Given the description of an element on the screen output the (x, y) to click on. 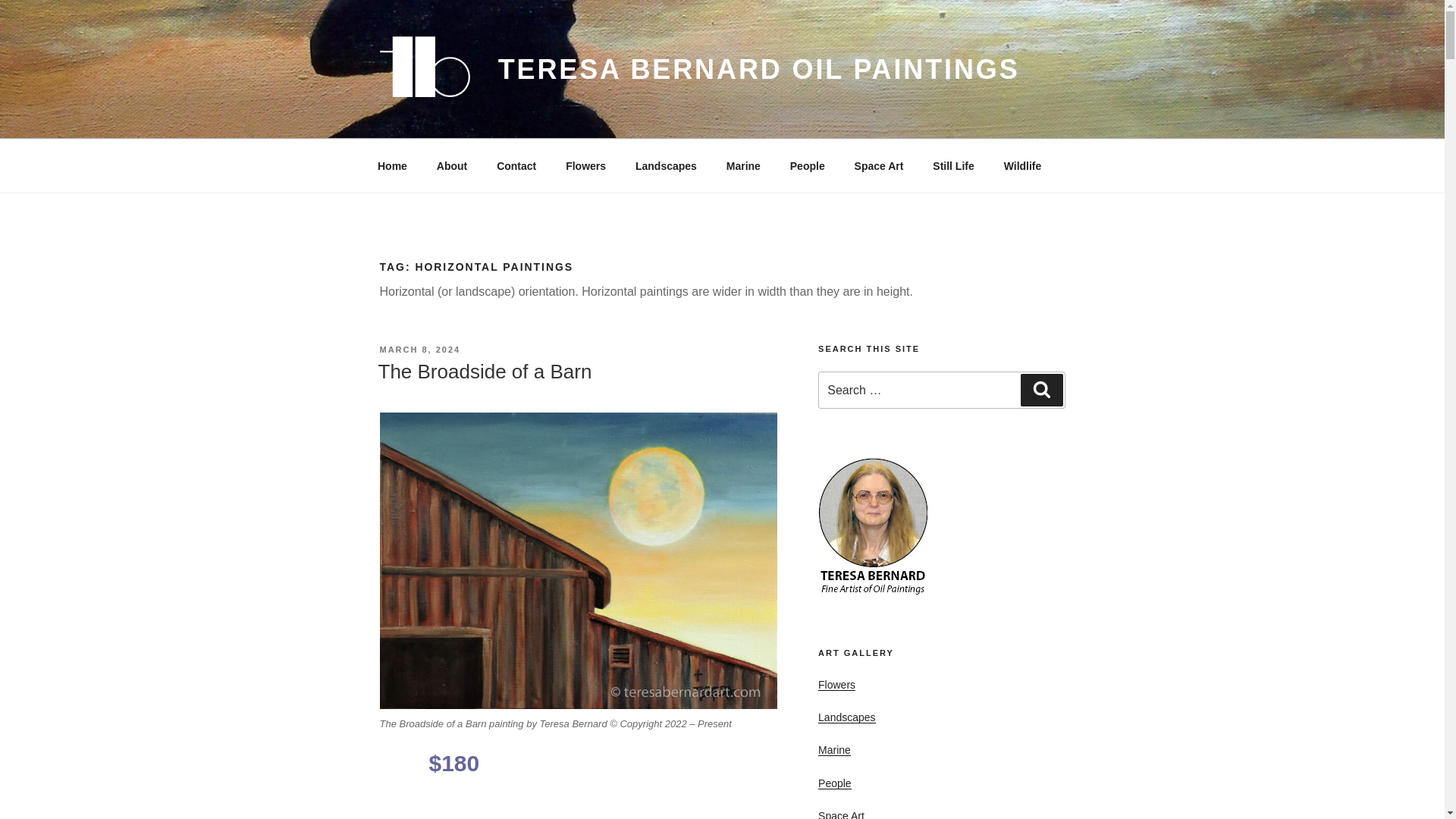
Contact (516, 165)
TERESA BERNARD OIL PAINTINGS (758, 69)
People (807, 165)
Wildlife (1022, 165)
MARCH 8, 2024 (419, 348)
The Broadside of a Barn (484, 371)
The Broadside of a Barn by Teresa Bernard (577, 560)
Meet The Artist (451, 165)
Flowers (586, 165)
About (451, 165)
Space Art (879, 165)
Marine (743, 165)
Still Life (953, 165)
Home (392, 165)
Landscapes (665, 165)
